Given the description of an element on the screen output the (x, y) to click on. 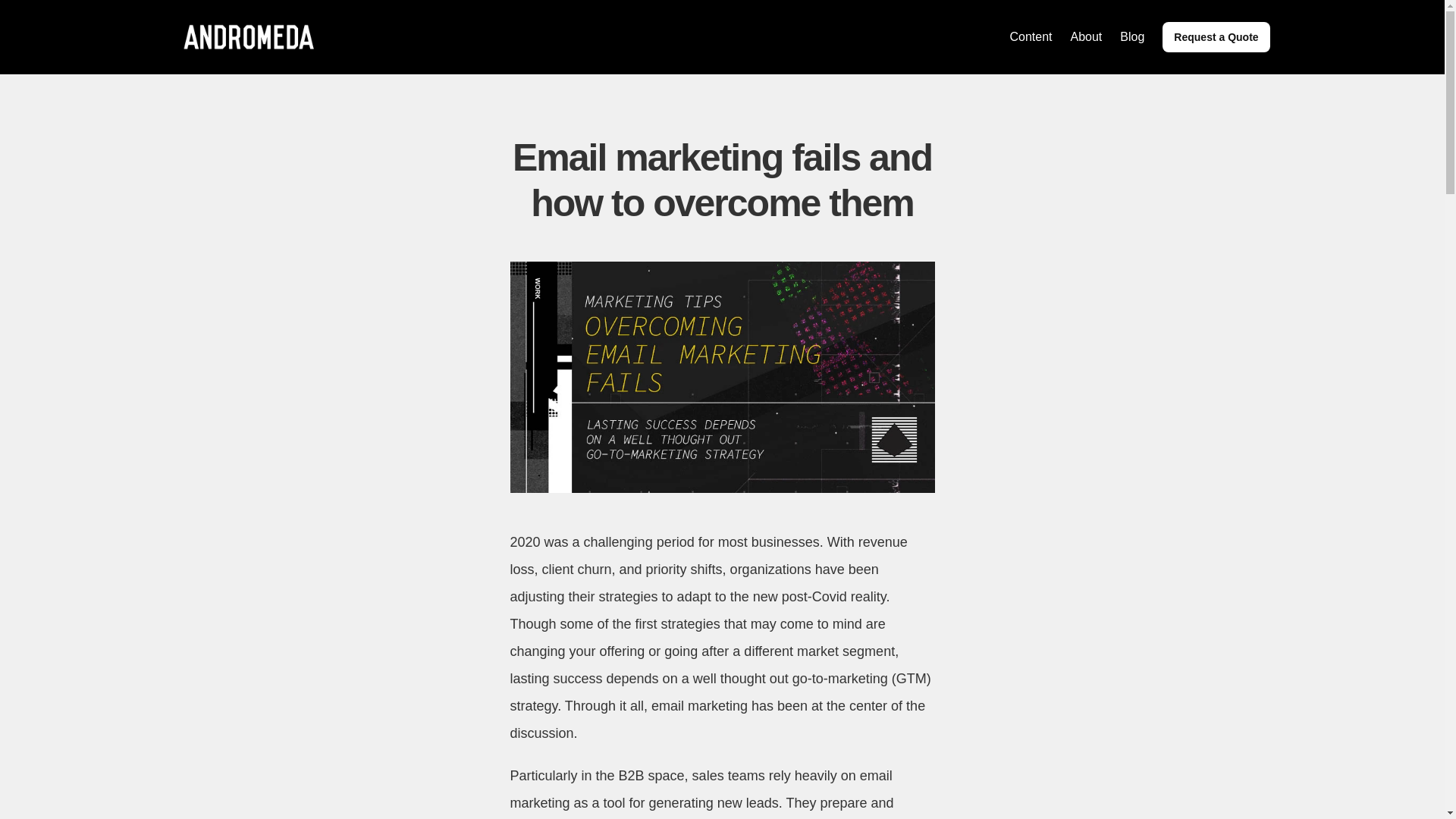
Blog (1131, 36)
About (1086, 36)
Content (1030, 36)
Request a Quote (1215, 37)
